Given the description of an element on the screen output the (x, y) to click on. 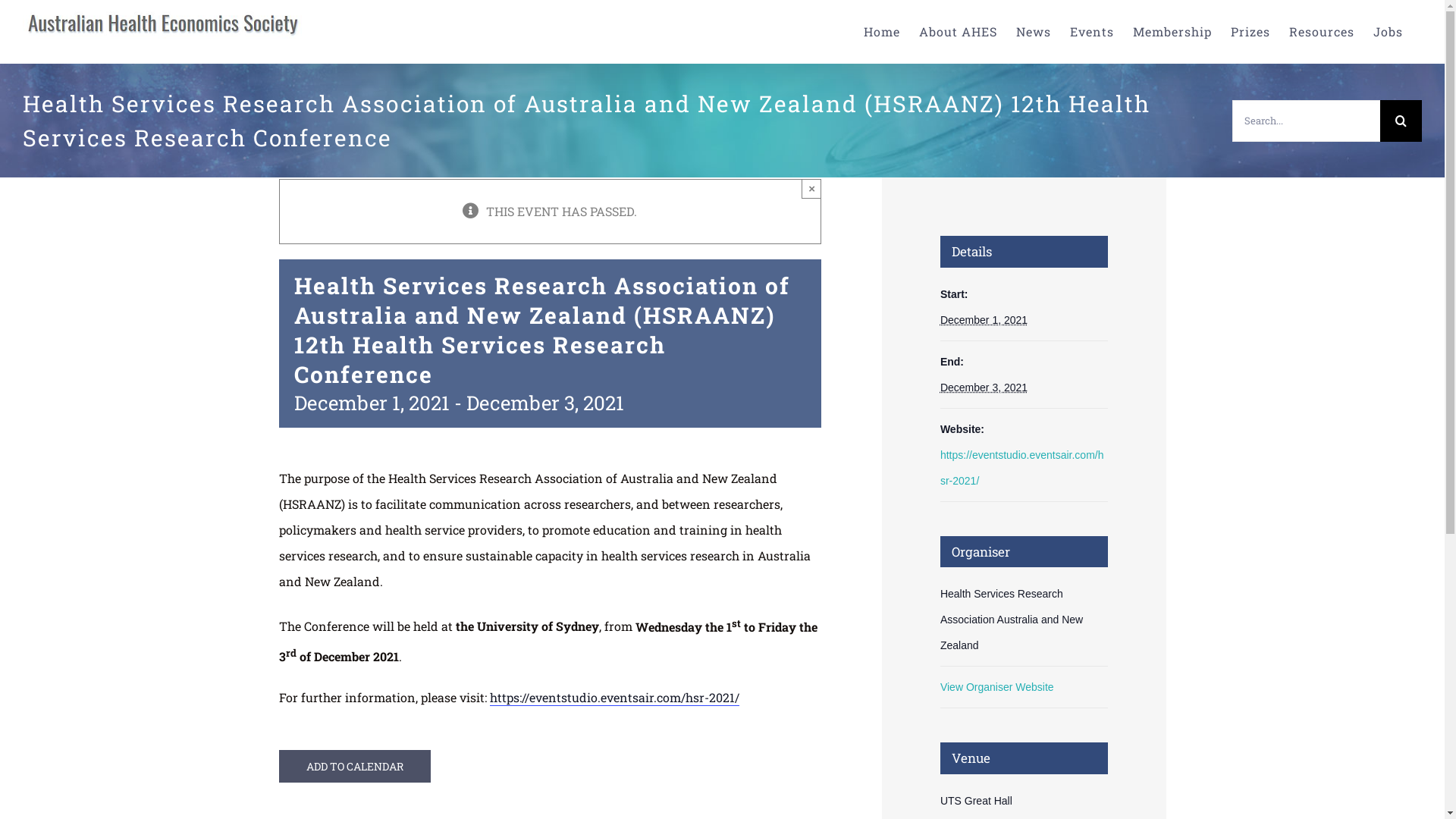
Prizes Element type: text (1250, 31)
Home Element type: text (881, 31)
Resources Element type: text (1321, 31)
Events Element type: text (1091, 31)
Membership Element type: text (1171, 31)
https://eventstudio.eventsair.com/hsr-2021/ Element type: text (614, 697)
About AHES Element type: text (958, 31)
ADD TO CALENDAR Element type: text (354, 765)
News Element type: text (1033, 31)
Jobs Element type: text (1387, 31)
https://eventstudio.eventsair.com/hsr-2021/ Element type: text (1022, 467)
View Organiser Website Element type: text (997, 686)
